Given the description of an element on the screen output the (x, y) to click on. 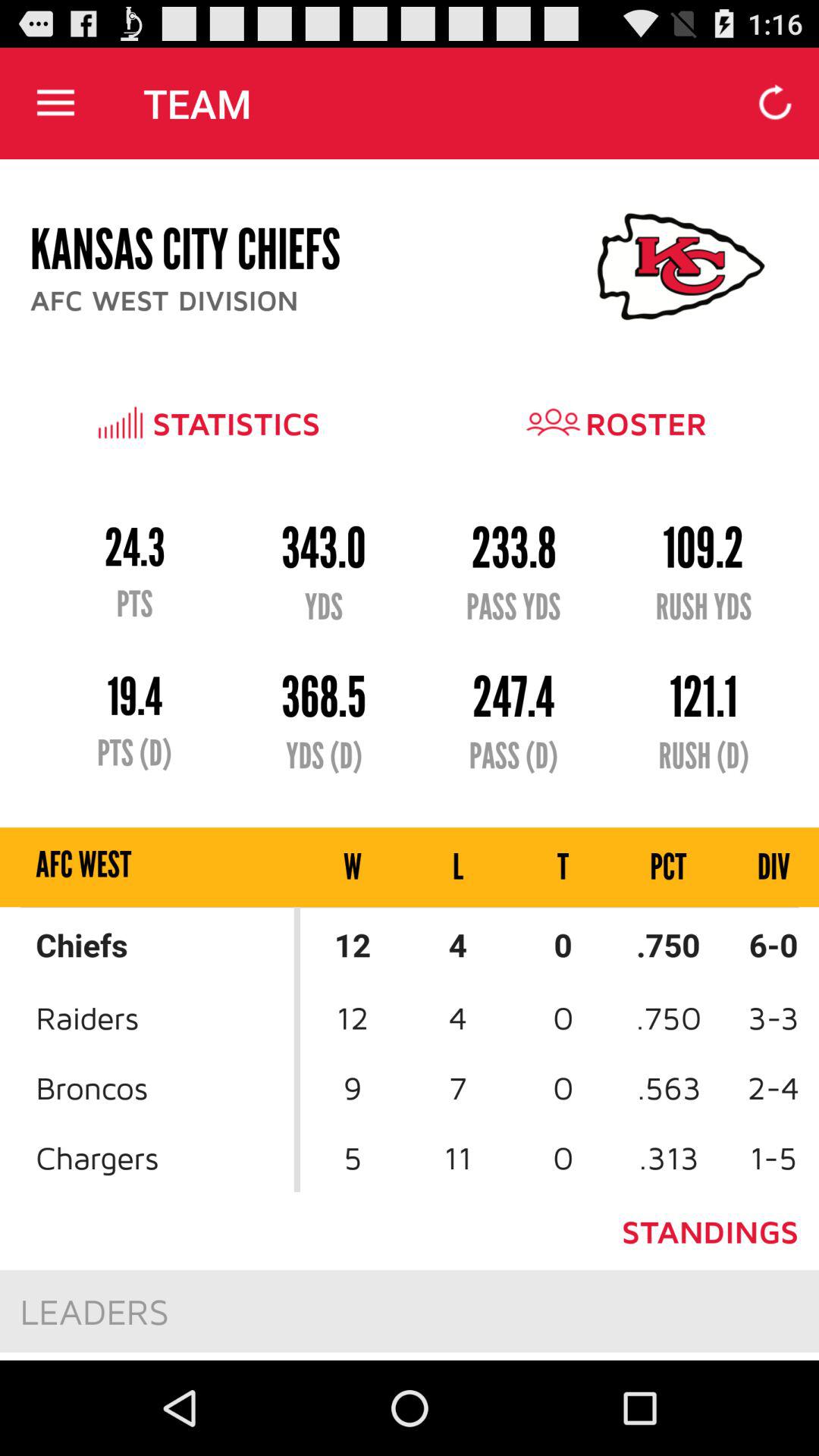
turn on the icon next to pct (562, 867)
